Given the description of an element on the screen output the (x, y) to click on. 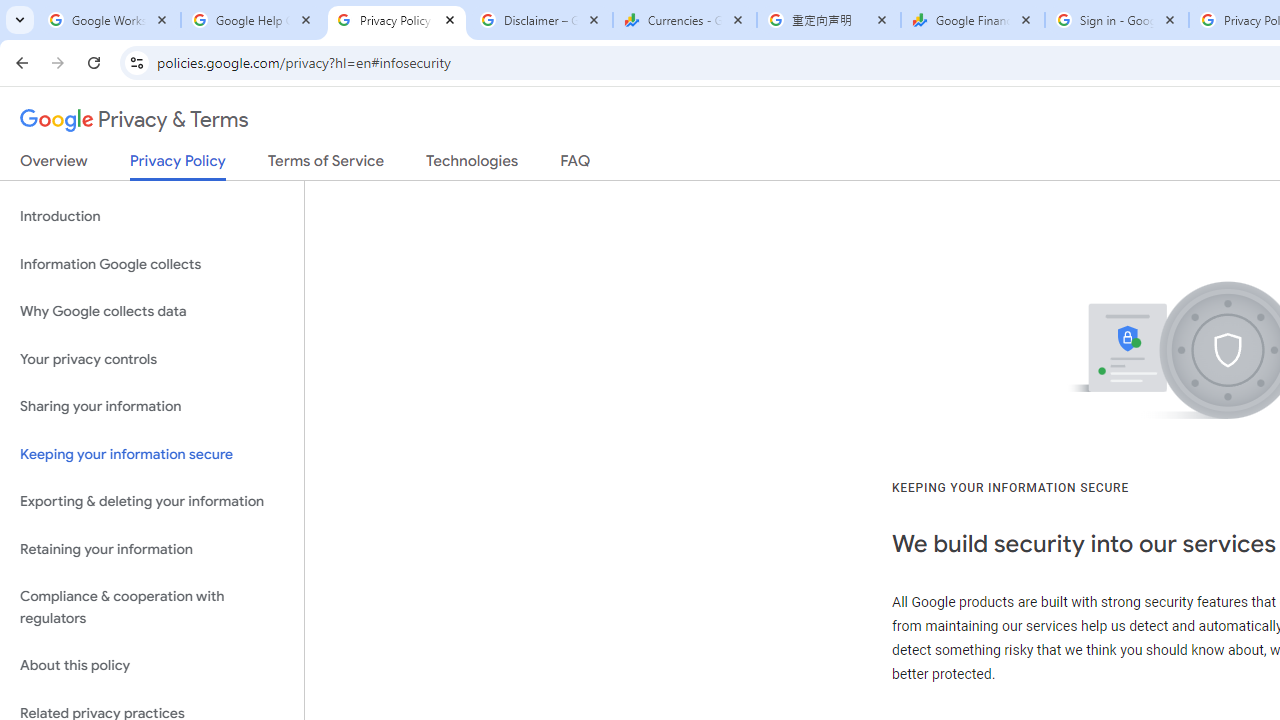
Exporting & deleting your information (152, 502)
Introduction (152, 216)
Why Google collects data (152, 312)
Information Google collects (152, 263)
Technologies (472, 165)
Keeping your information secure (152, 453)
Currencies - Google Finance (684, 20)
